Given the description of an element on the screen output the (x, y) to click on. 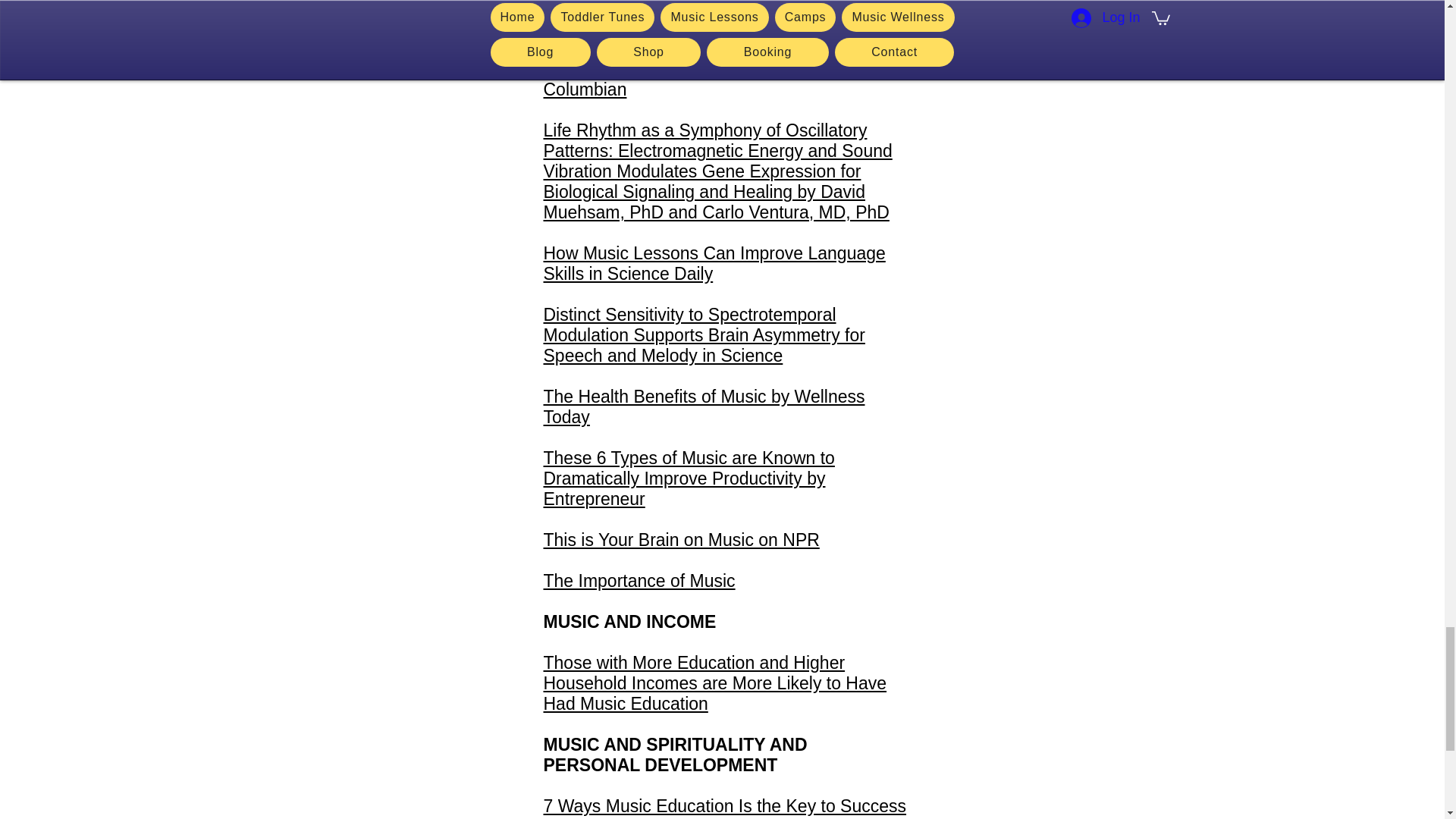
Music Therapy for Infants in NICU by The Columbian (703, 78)
The Health Benefits of Music by Wellness Today (703, 406)
